Given the description of an element on the screen output the (x, y) to click on. 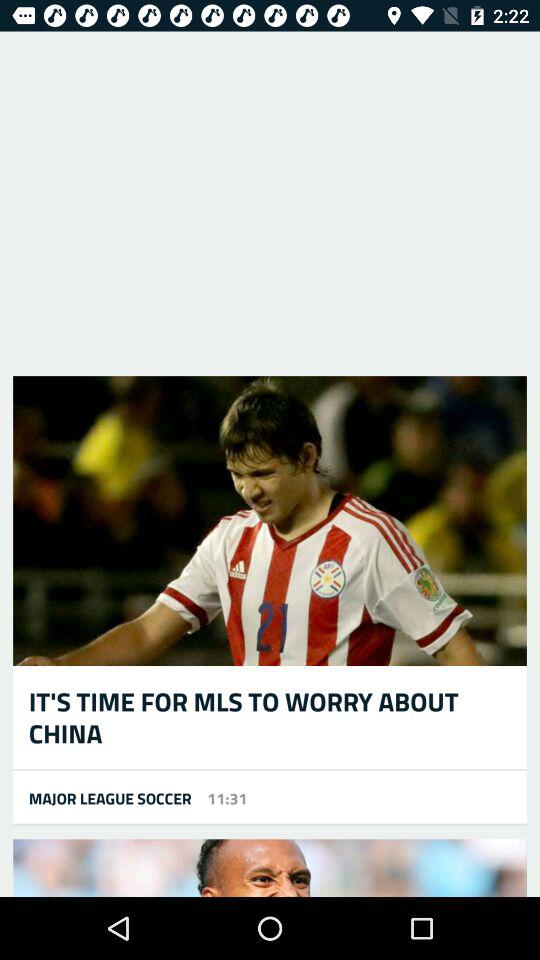
scroll until major league soccer icon (102, 798)
